Given the description of an element on the screen output the (x, y) to click on. 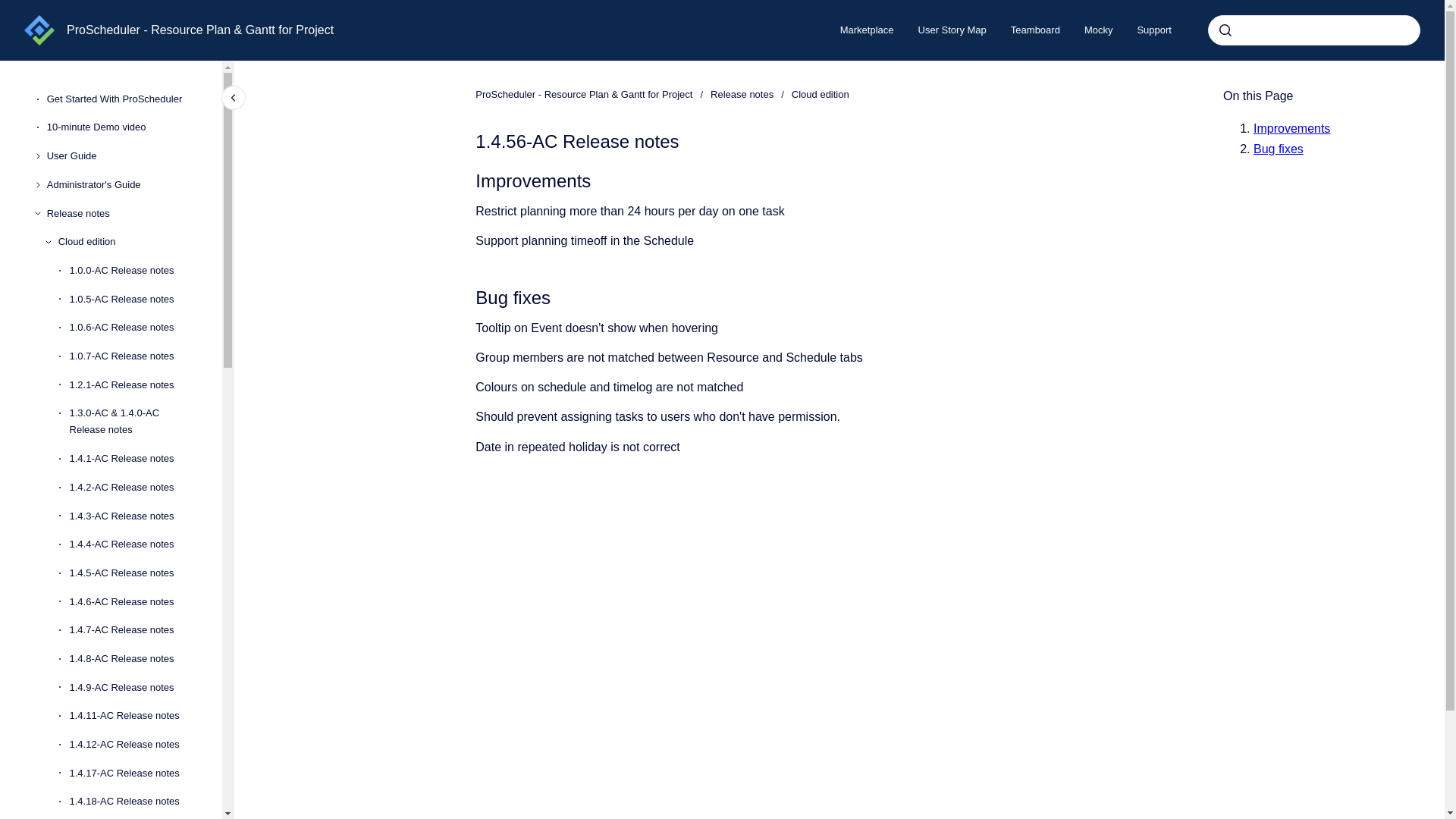
1.4.8-AC Release notes (133, 658)
User Story Map (951, 29)
User Guide (122, 155)
1.0.7-AC Release notes (133, 356)
Administrator's Guide (122, 185)
1.4.12-AC Release notes (133, 744)
1.0.0-AC Release notes (133, 270)
Get Started With ProScheduler (122, 99)
Mocky (1098, 29)
1.4.4-AC Release notes (133, 543)
10-minute Demo video (122, 127)
1.4.7-AC Release notes (133, 629)
Release notes (122, 213)
1.4.6-AC Release notes (133, 601)
1.4.1-AC Release notes (133, 458)
